Given the description of an element on the screen output the (x, y) to click on. 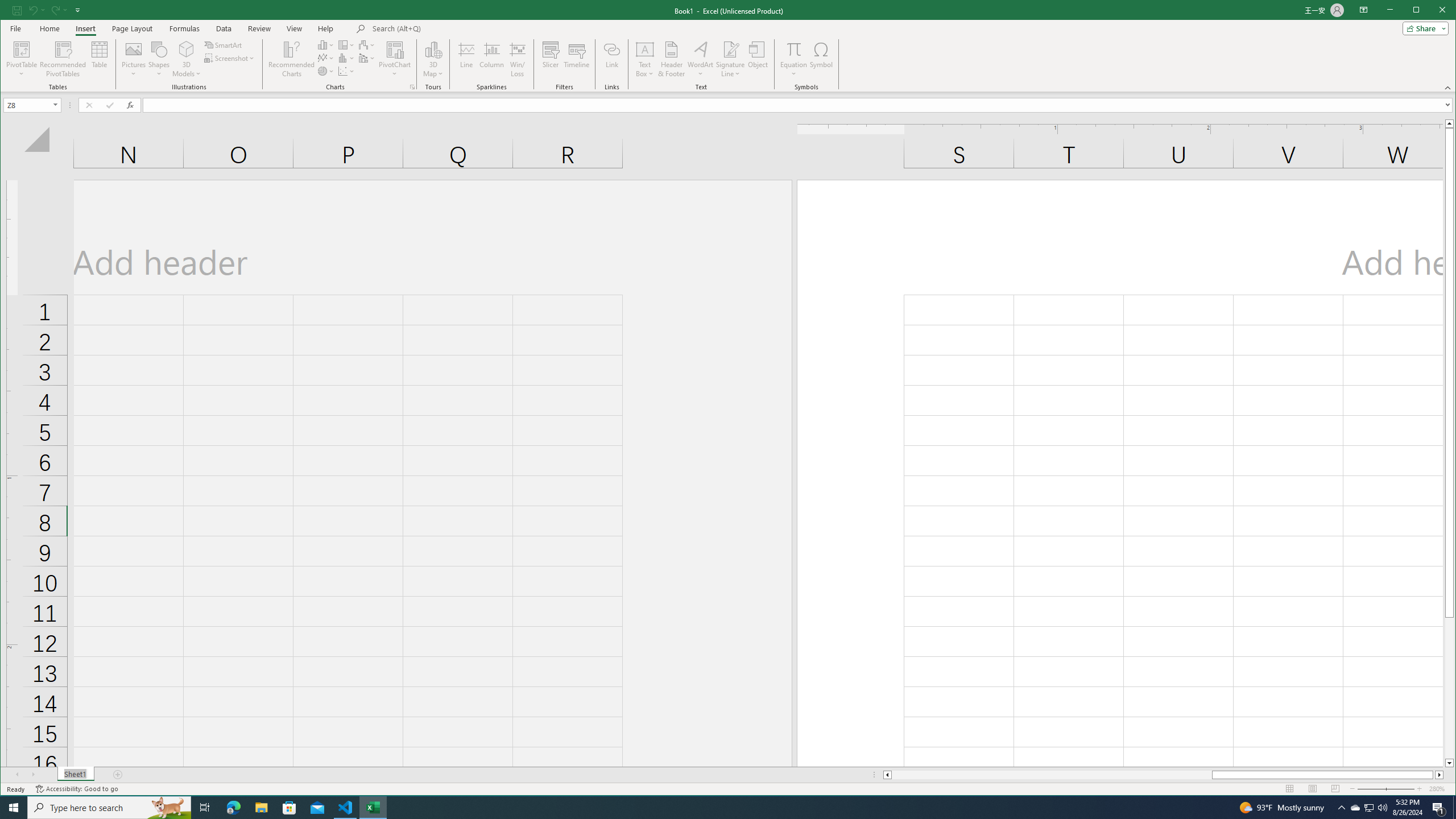
PivotTable (22, 48)
Zoom Out (1378, 788)
Name Box (32, 105)
Sheet Tab (75, 774)
System (10, 10)
Line down (1449, 763)
Page Layout (132, 28)
Home (49, 28)
Insert Statistic Chart (346, 57)
Undo (36, 9)
Column left (886, 774)
Insert Column or Bar Chart (325, 44)
Save (16, 9)
